Given the description of an element on the screen output the (x, y) to click on. 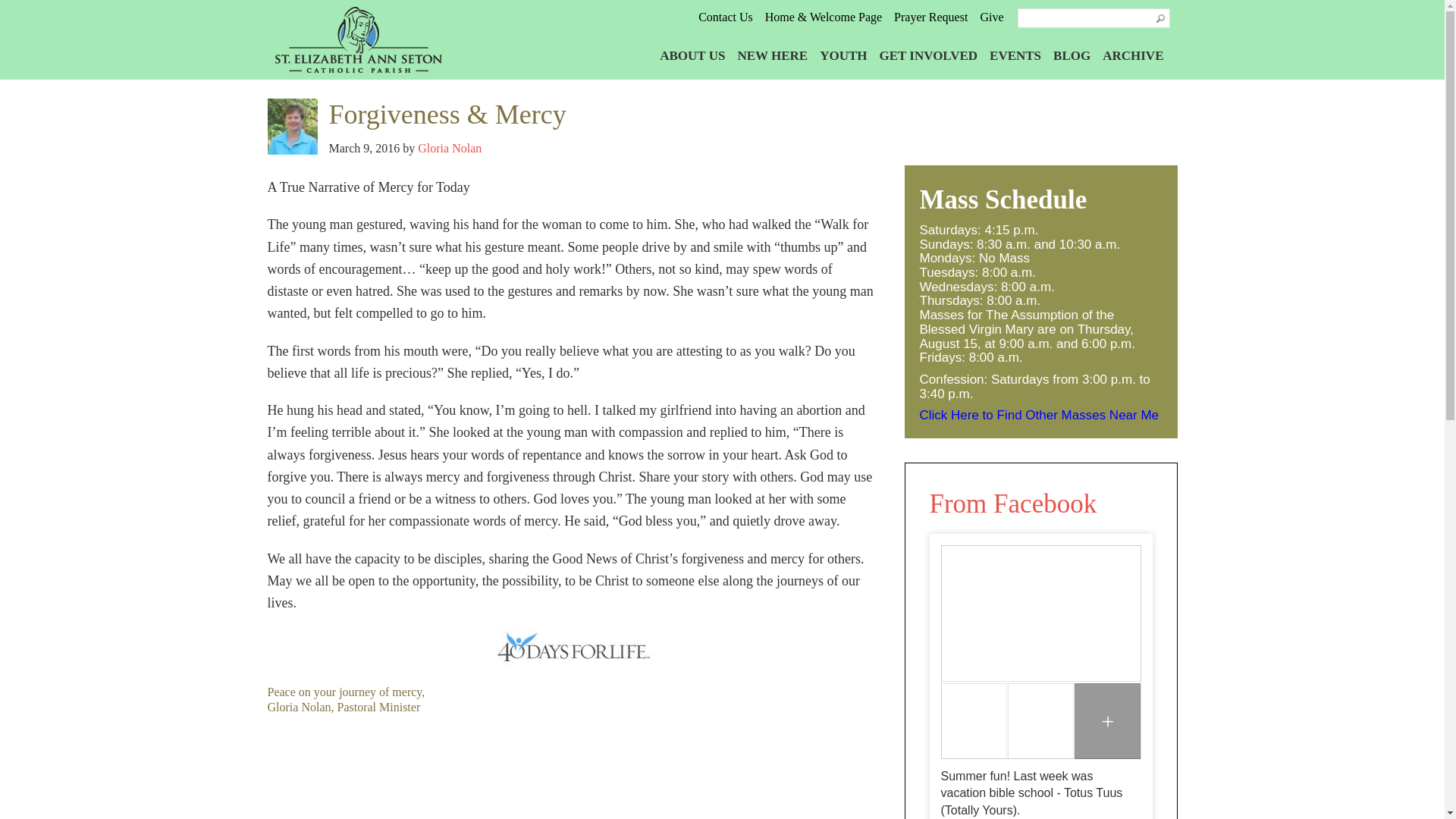
Give (991, 16)
Gloria Nolan (449, 147)
Contact Us (725, 16)
St. Elizabeth Ann Seton Catholic Parish (371, 39)
Click Here to Find Other Masses Near Me (1038, 414)
GET INVOLVED (927, 55)
YOUTH (842, 55)
BLOG (1071, 55)
ABOUT US (692, 55)
Prayer Request (930, 16)
